Given the description of an element on the screen output the (x, y) to click on. 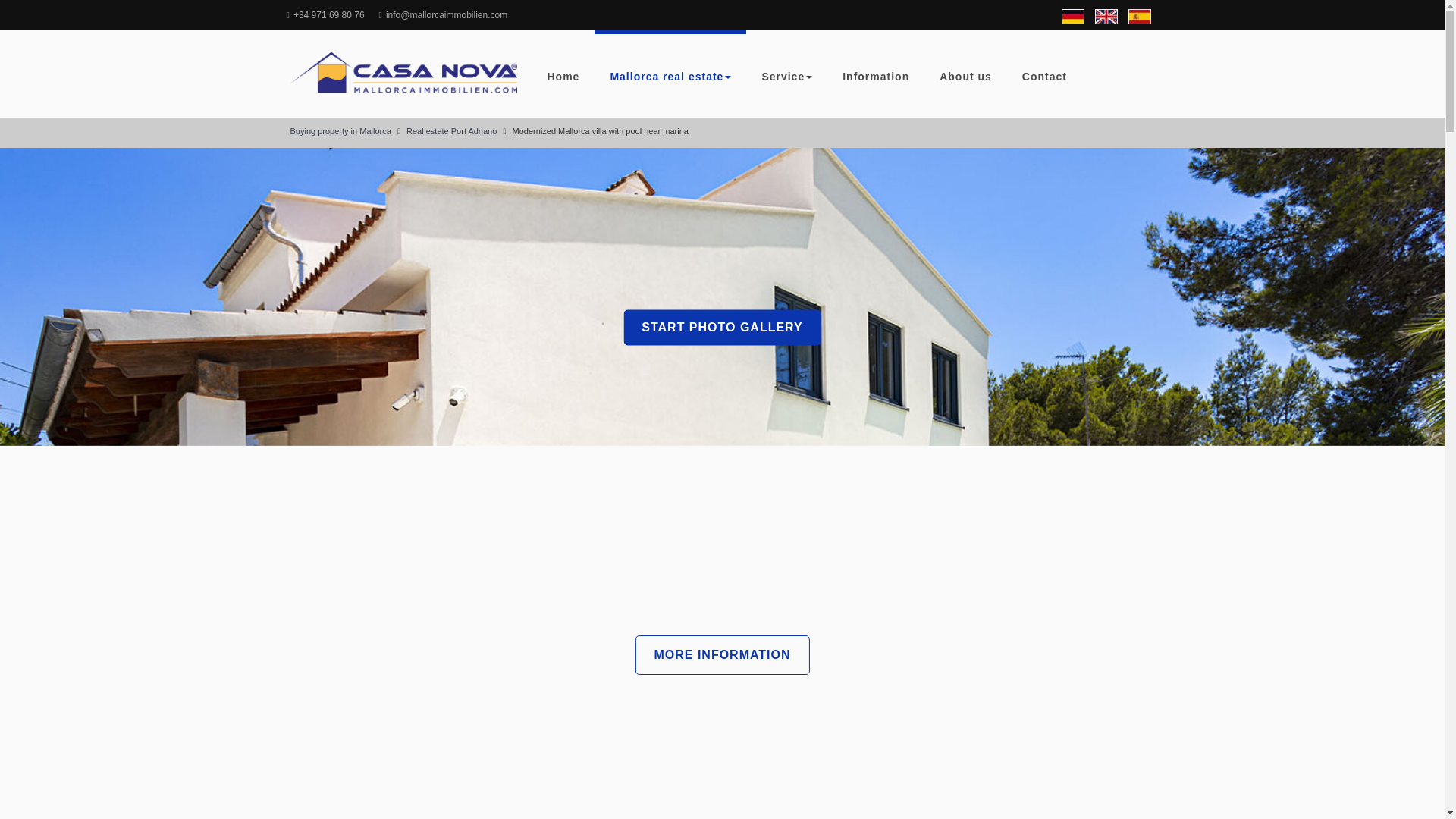
Buying property in Mallorca (339, 130)
About us (965, 73)
Mallorca real estate (669, 73)
Immobilien Mallorca auf Deutsch (1072, 16)
Service (786, 73)
Real estate Mallorca in English (1106, 16)
Information (875, 73)
